Given the description of an element on the screen output the (x, y) to click on. 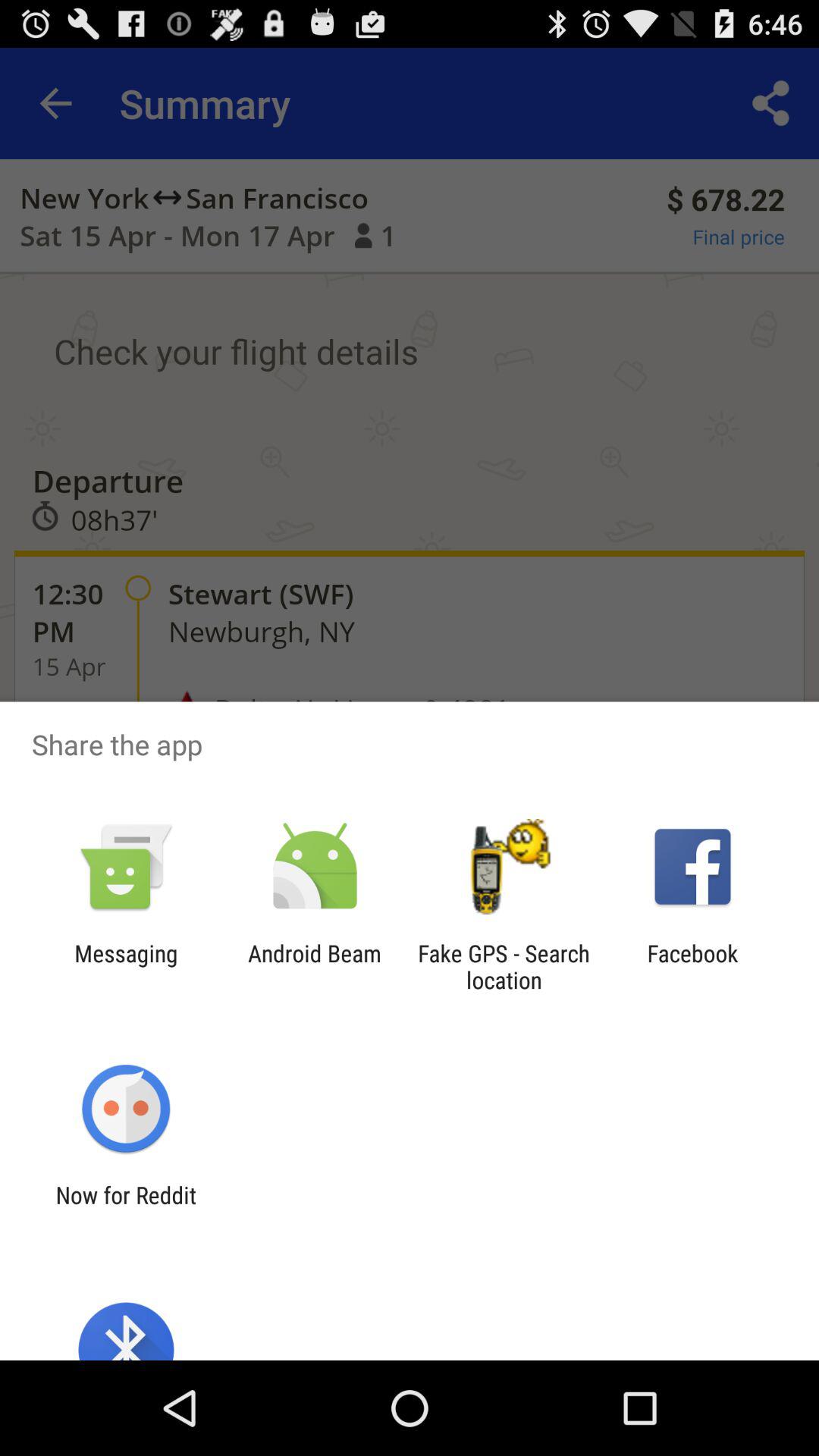
click the android beam icon (314, 966)
